Given the description of an element on the screen output the (x, y) to click on. 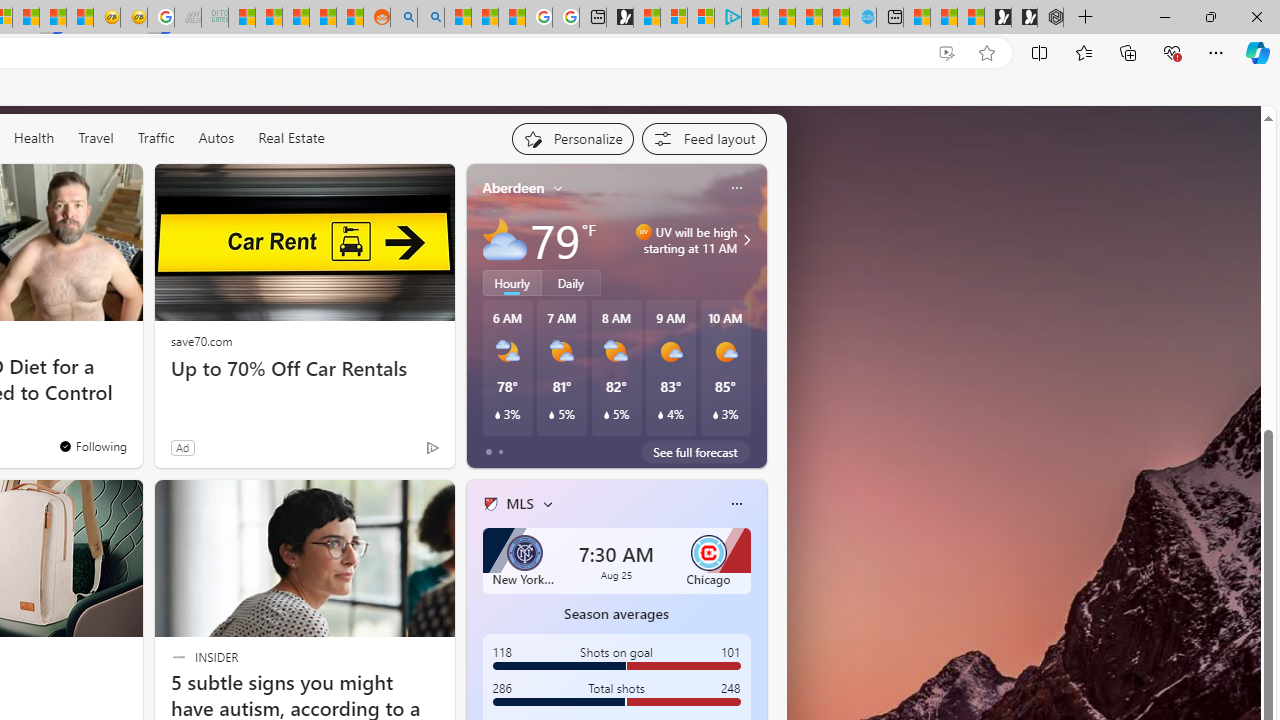
My location (558, 187)
previous (476, 632)
next (756, 632)
